Given the description of an element on the screen output the (x, y) to click on. 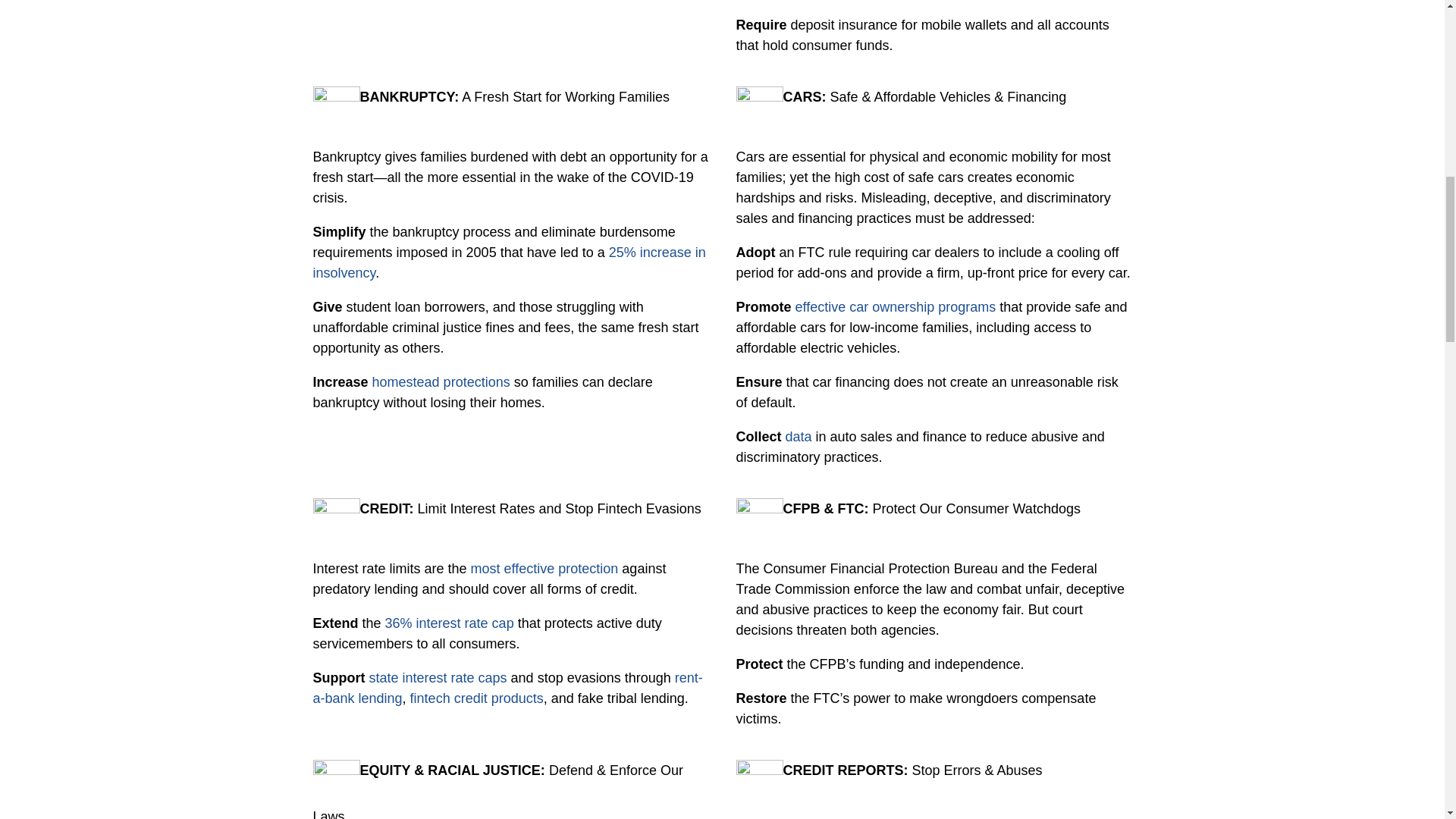
homestead protections (439, 381)
data (796, 436)
most effective protection (544, 568)
effective car ownership programs (894, 306)
